Given the description of an element on the screen output the (x, y) to click on. 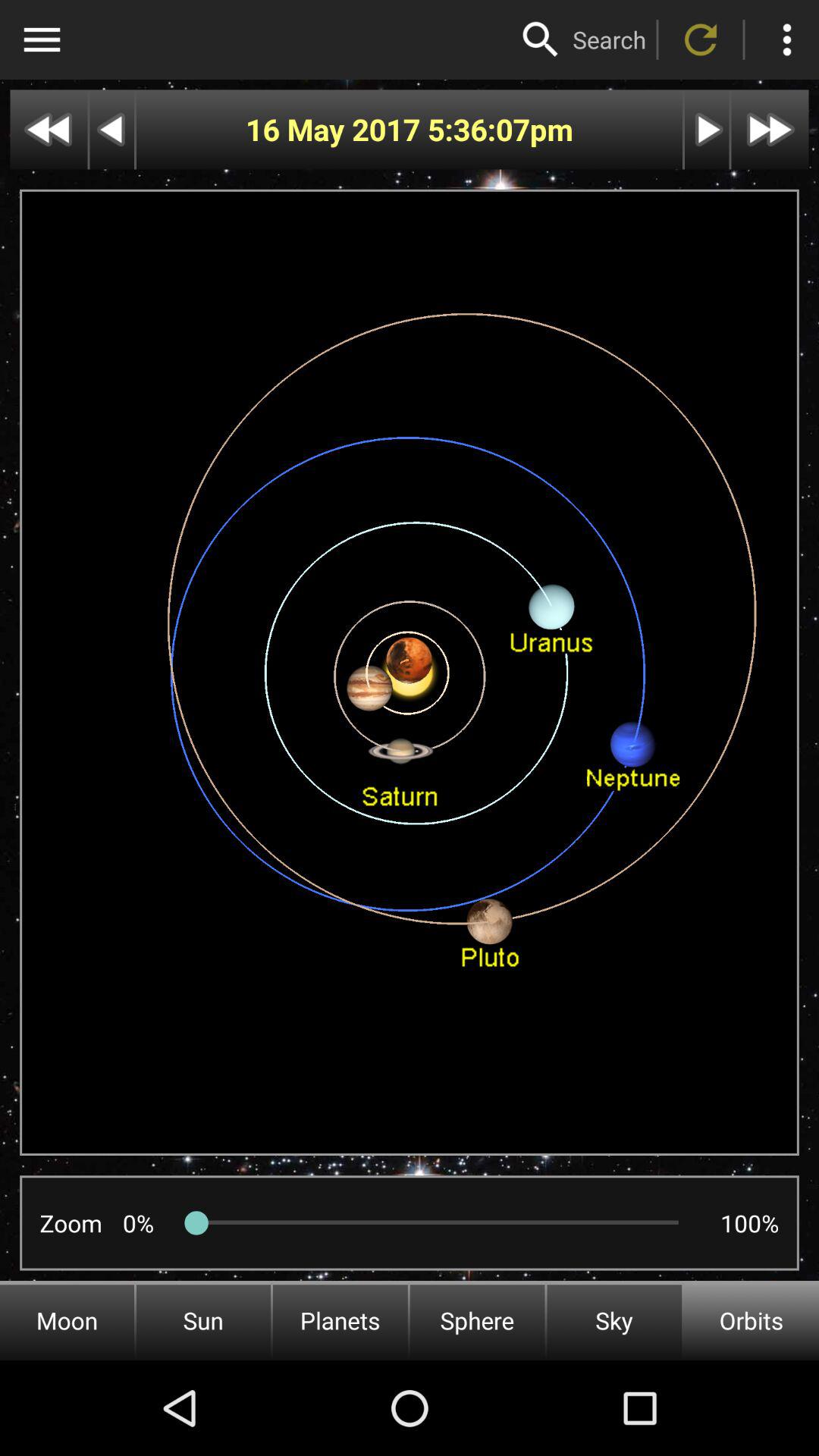
turn off 16 may 2017  icon (336, 129)
